Given the description of an element on the screen output the (x, y) to click on. 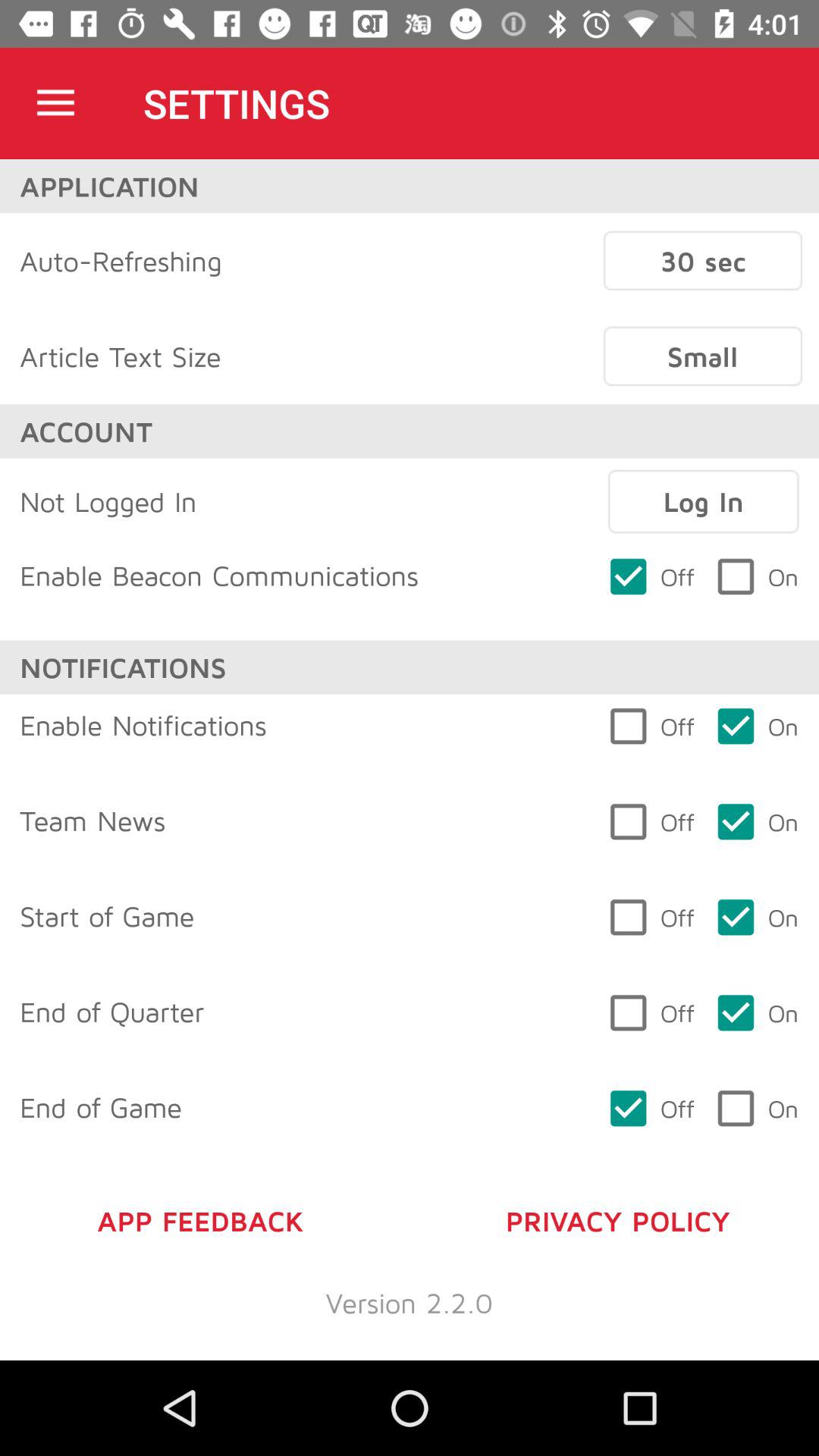
select item next to not logged in icon (703, 501)
